Given the description of an element on the screen output the (x, y) to click on. 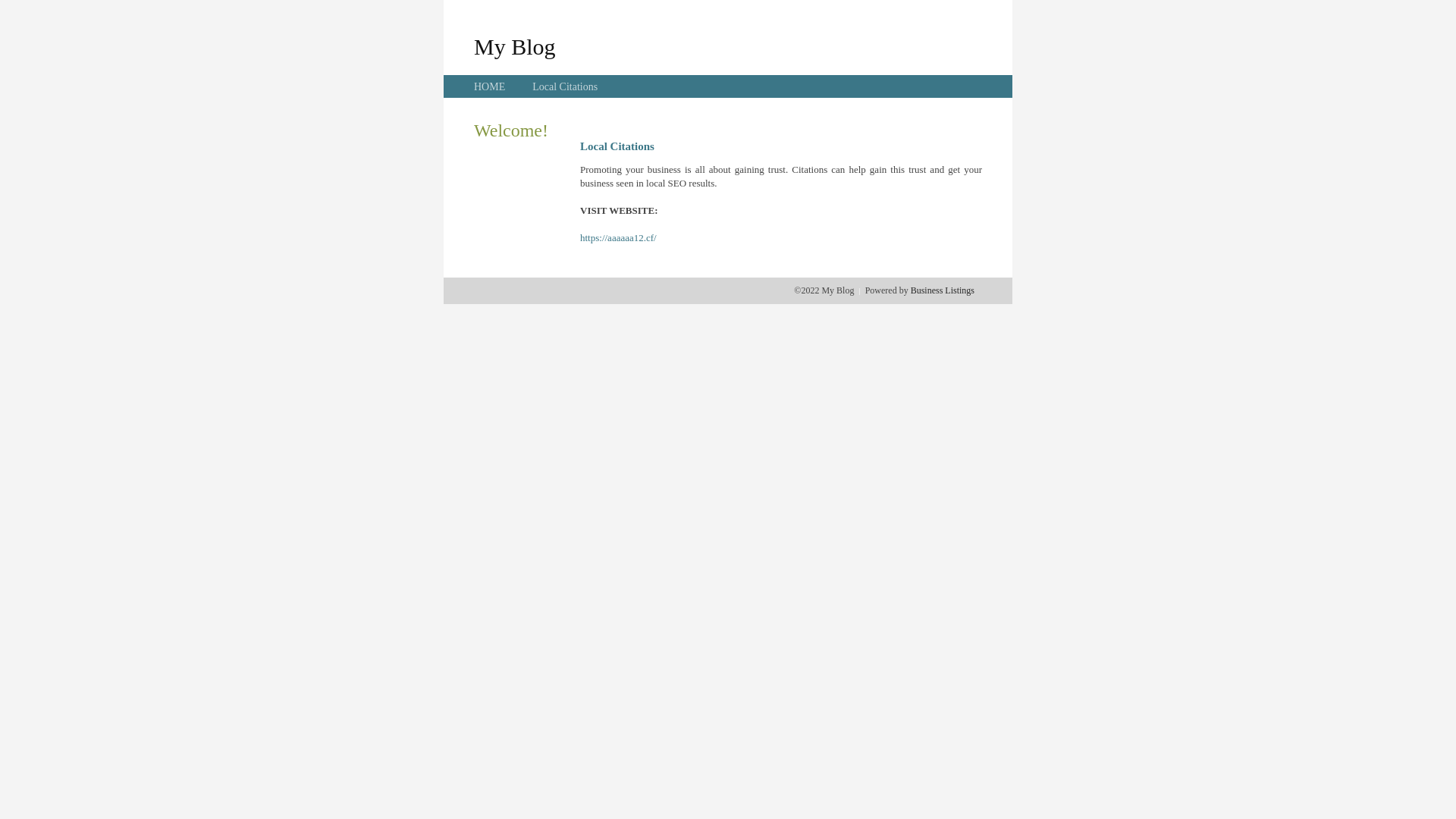
Business Listings Element type: text (942, 290)
My Blog Element type: text (514, 46)
https://aaaaaa12.cf/ Element type: text (618, 237)
HOME Element type: text (489, 86)
Local Citations Element type: text (564, 86)
